Given the description of an element on the screen output the (x, y) to click on. 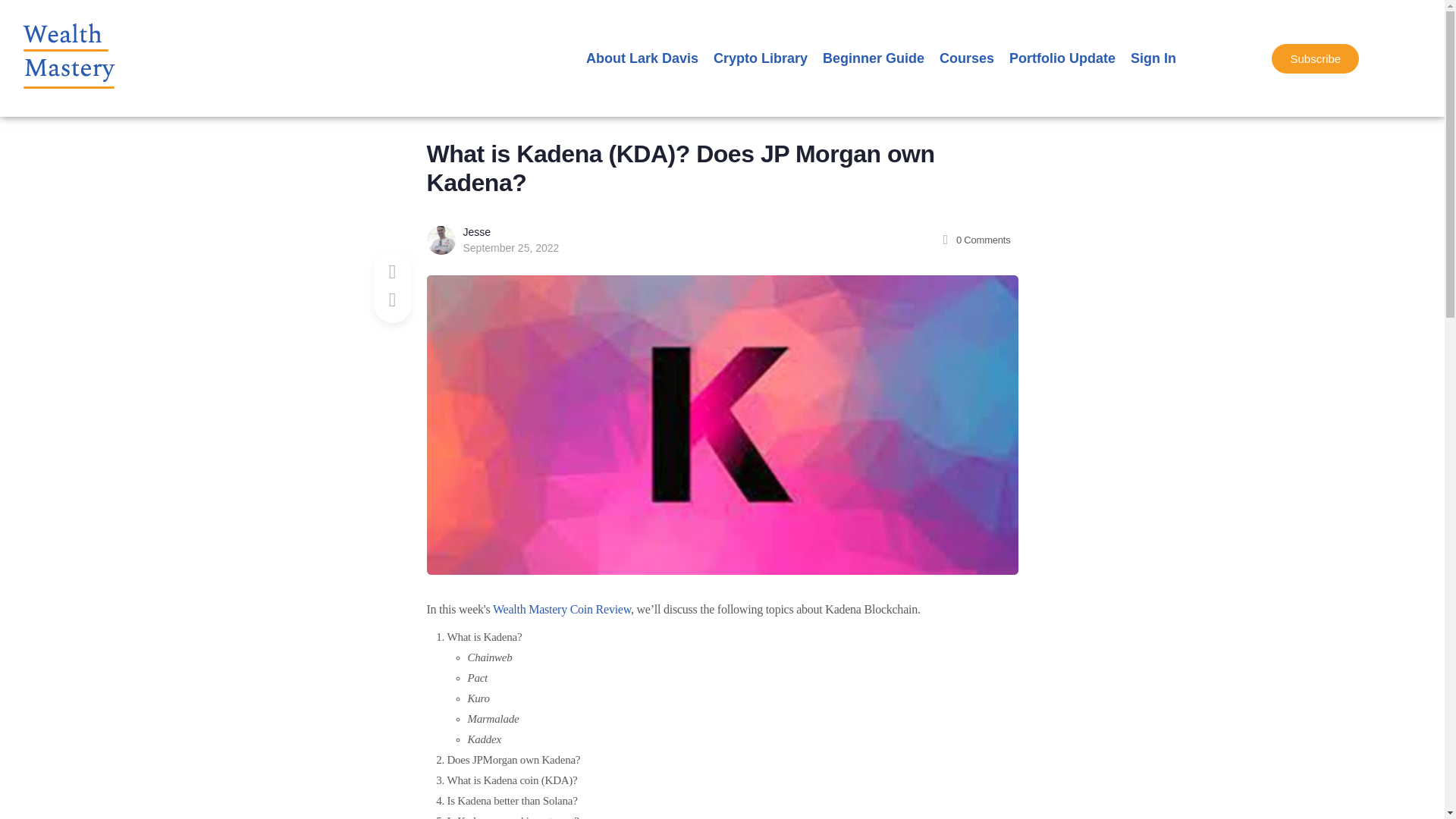
Crypto Library (760, 58)
About Lark Davis (642, 58)
Beginner Guide (873, 58)
Courses (966, 58)
Subscribe (1314, 58)
Sign In (1152, 58)
Portfolio Update (1061, 58)
